Given the description of an element on the screen output the (x, y) to click on. 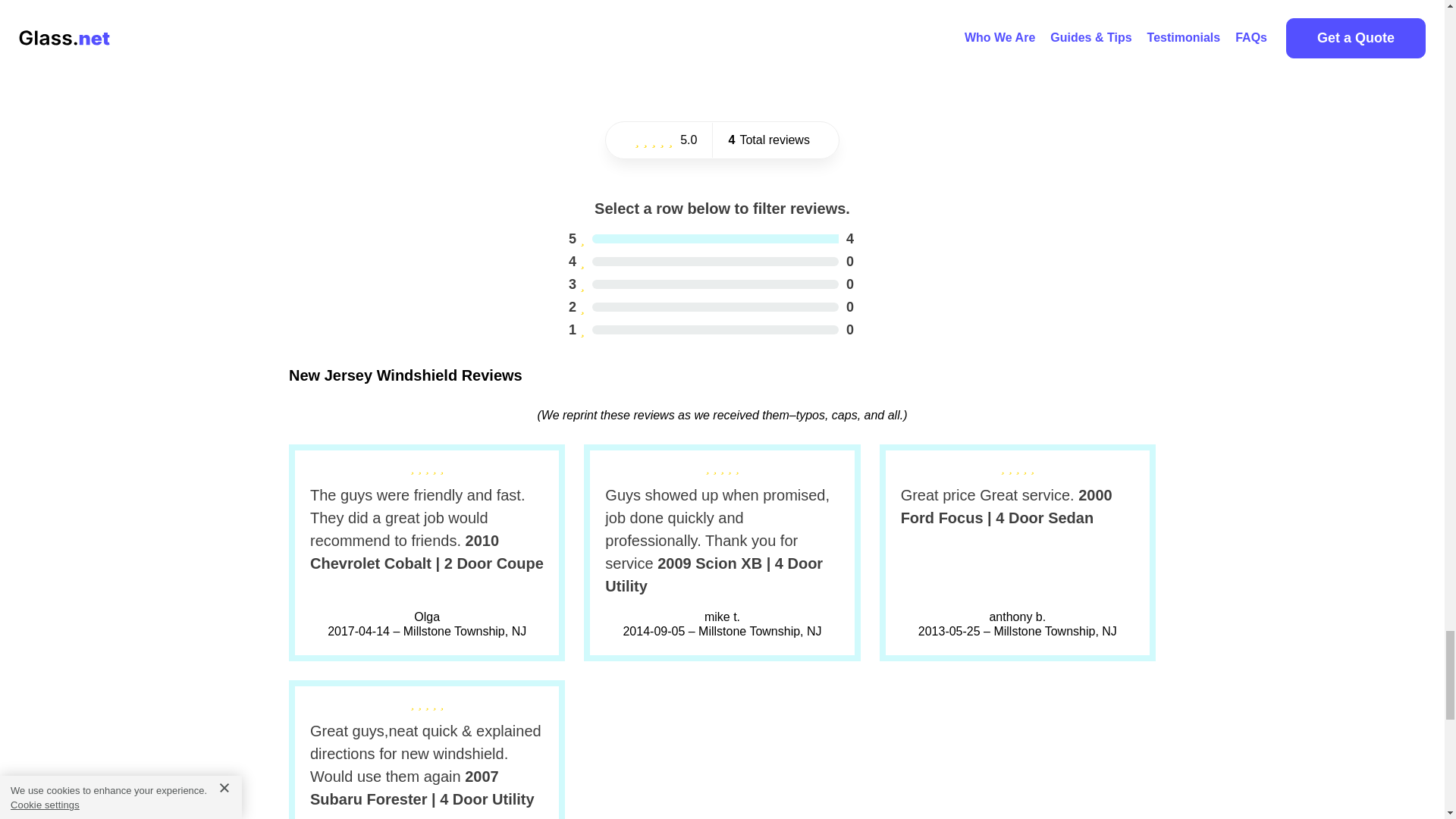
Glass.Net (1059, 26)
Glass.Net (850, 26)
Average windshield repair review (711, 306)
